Given the description of an element on the screen output the (x, y) to click on. 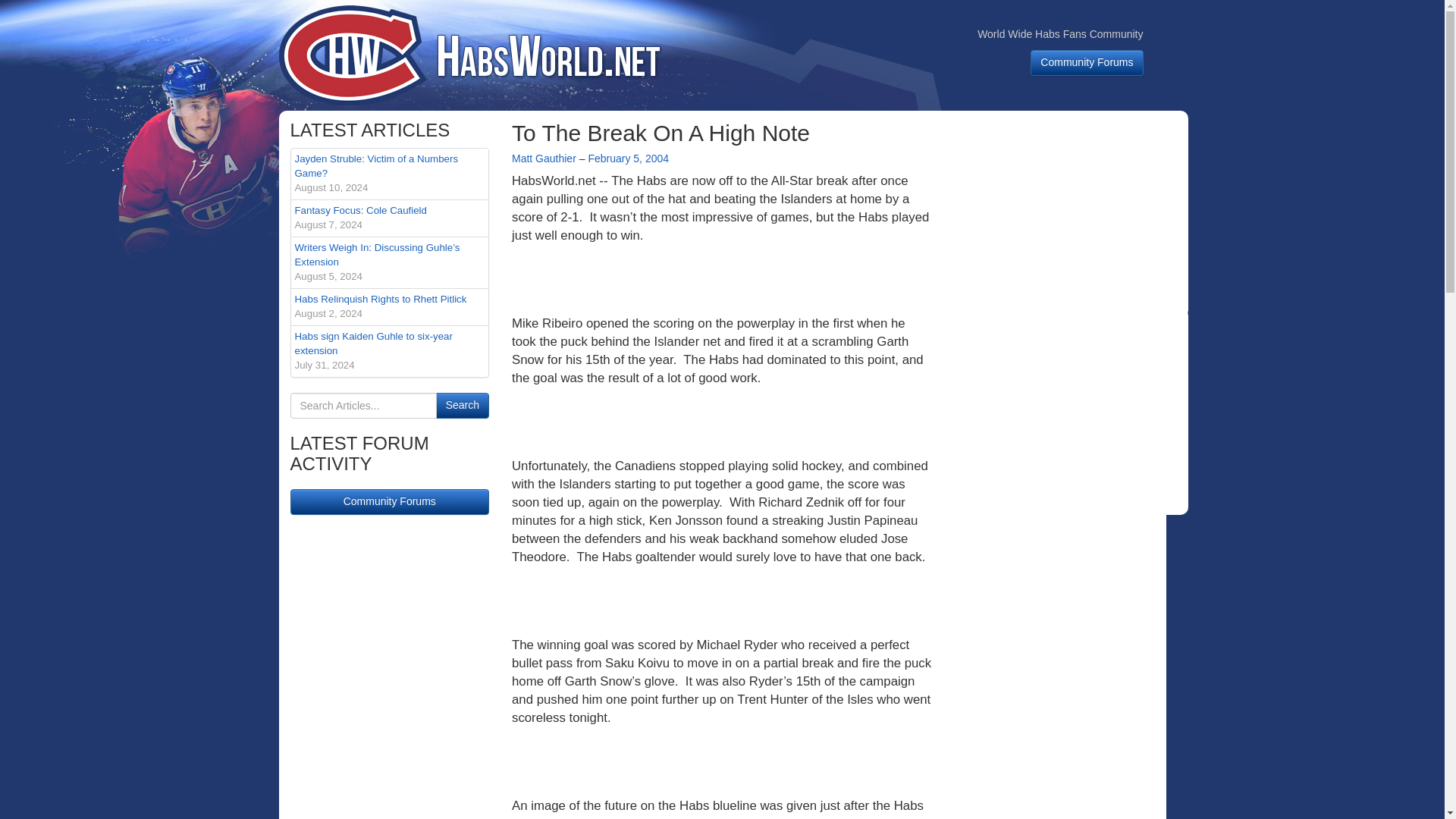
Search (462, 405)
Community Forums (390, 307)
Community Forums (1086, 62)
Search (389, 501)
February 5, 2004 (462, 405)
Matt Gauthier (390, 217)
